Given the description of an element on the screen output the (x, y) to click on. 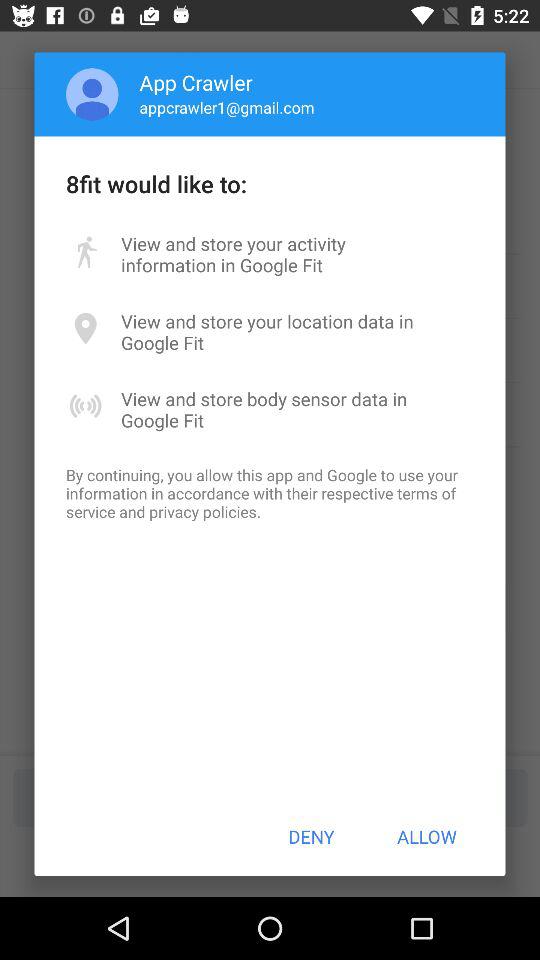
click the item above appcrawler1@gmail.com (195, 82)
